Given the description of an element on the screen output the (x, y) to click on. 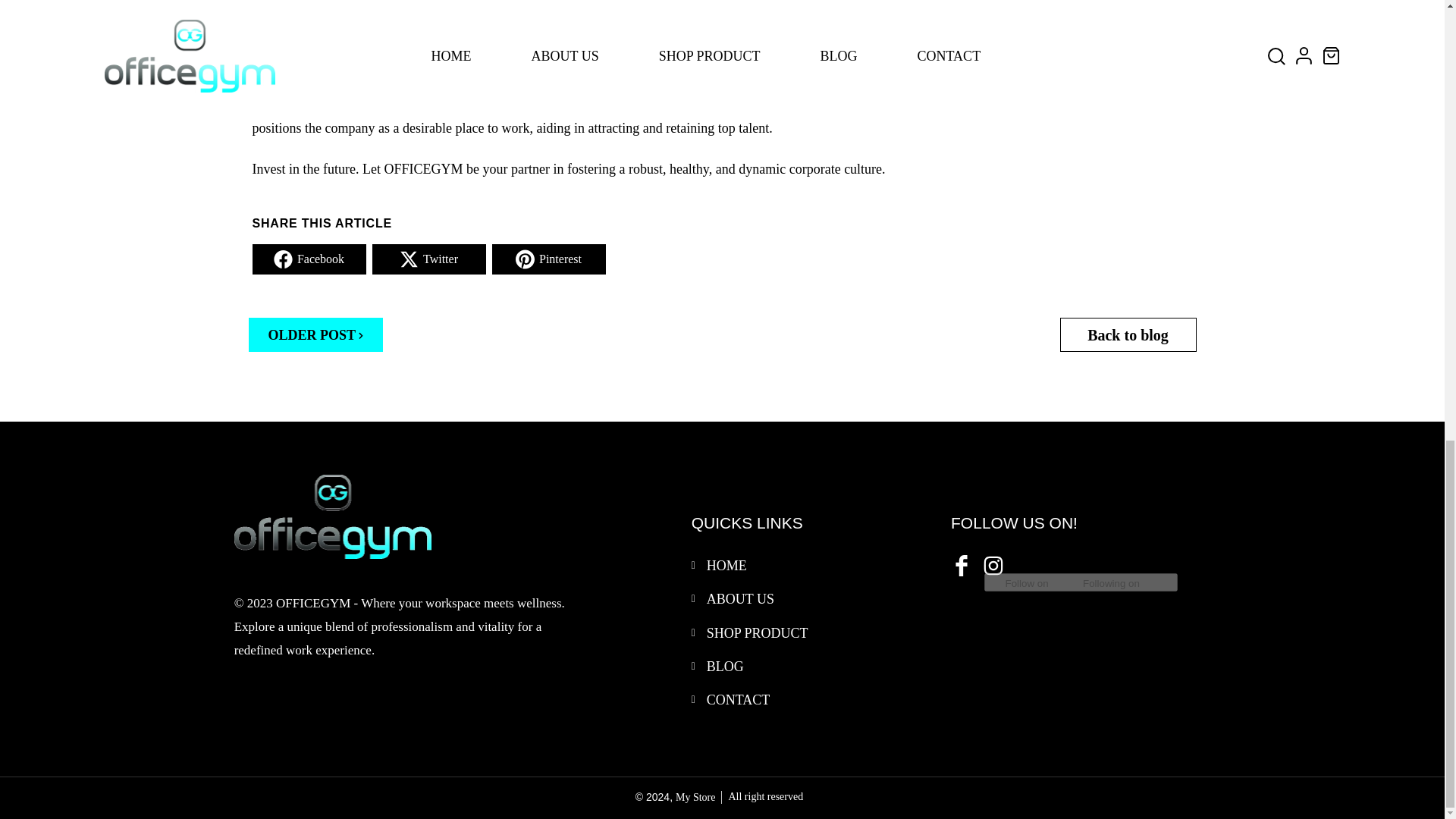
SHOP PRODUCT (757, 632)
OLDER POST (316, 334)
Back to blog (1127, 334)
CONTACT (738, 699)
Instagram - My Store (991, 564)
BLOG (725, 666)
Facebook - My Store (959, 564)
My Store (695, 797)
ABOUT US (740, 598)
Pinterest (548, 259)
